Given the description of an element on the screen output the (x, y) to click on. 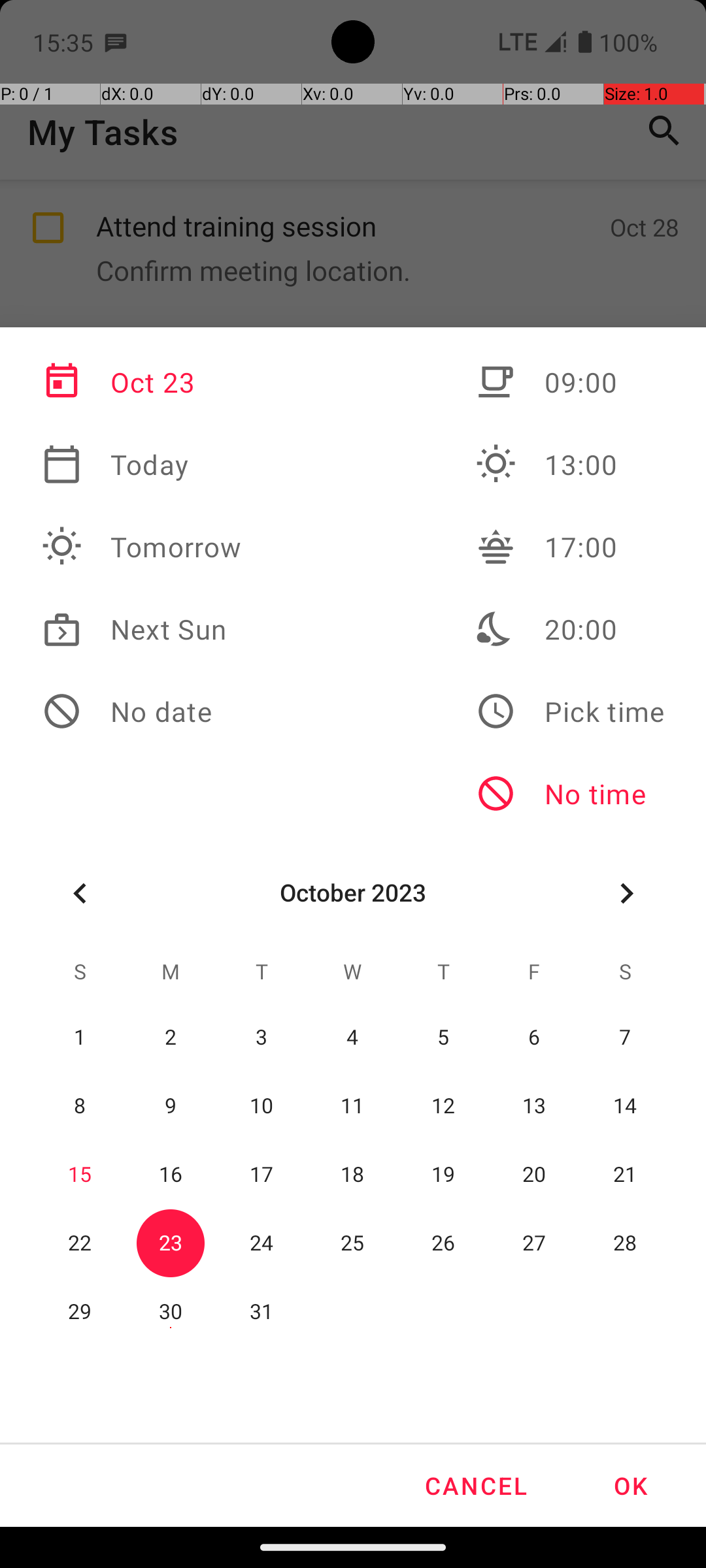
Oct 23 Element type: android.widget.CompoundButton (141, 382)
